Given the description of an element on the screen output the (x, y) to click on. 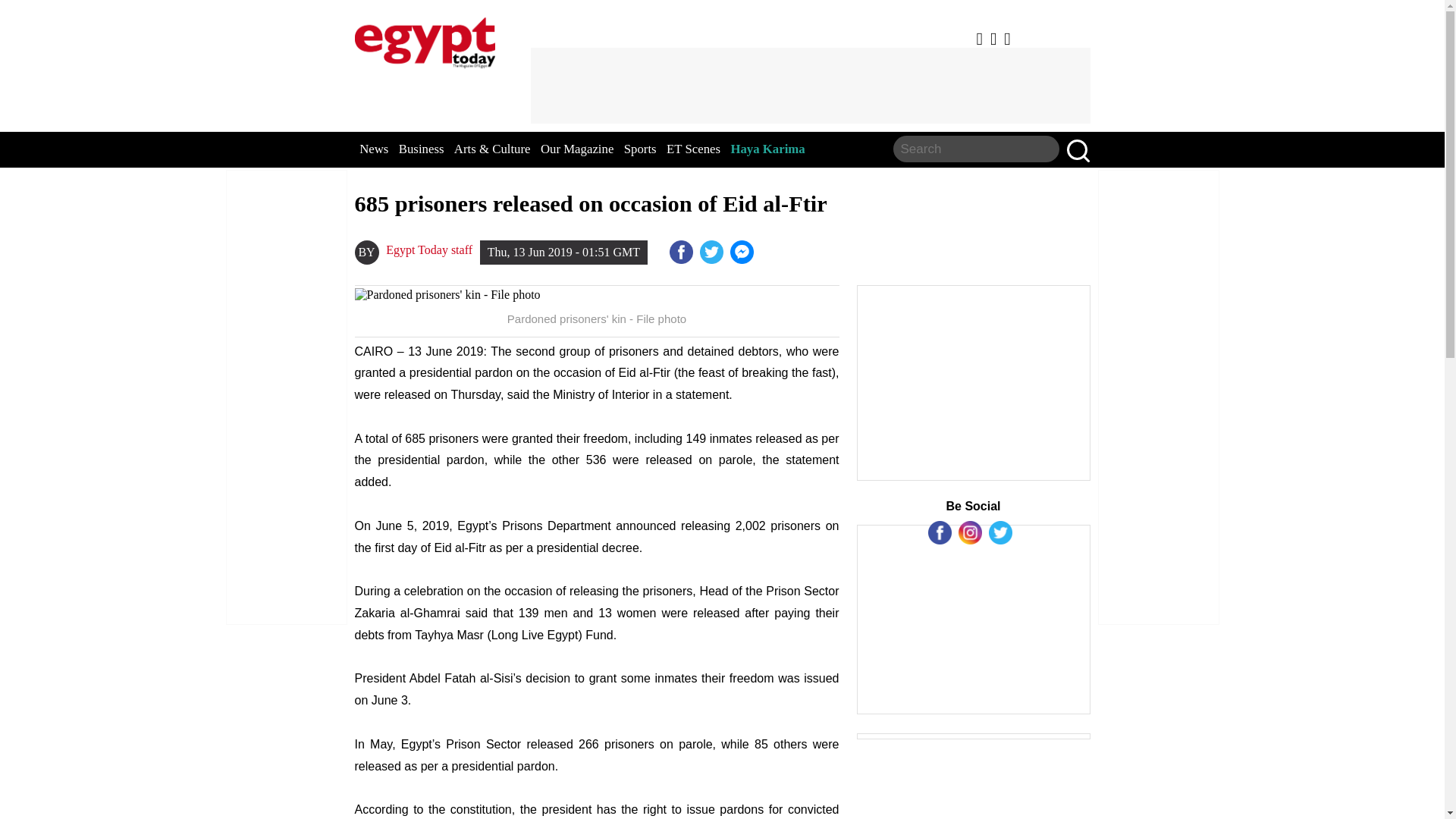
Our Magazine (576, 149)
Egypt Today staff (428, 250)
News (373, 149)
EgyptToday (425, 39)
Haya Karima (767, 149)
ET Scenes (693, 149)
Business (421, 149)
Sisi heads to Guinea first destination in overseas tour (743, 251)
Sports (640, 149)
Pardoned prisoners' kin - File photo (597, 295)
